Given the description of an element on the screen output the (x, y) to click on. 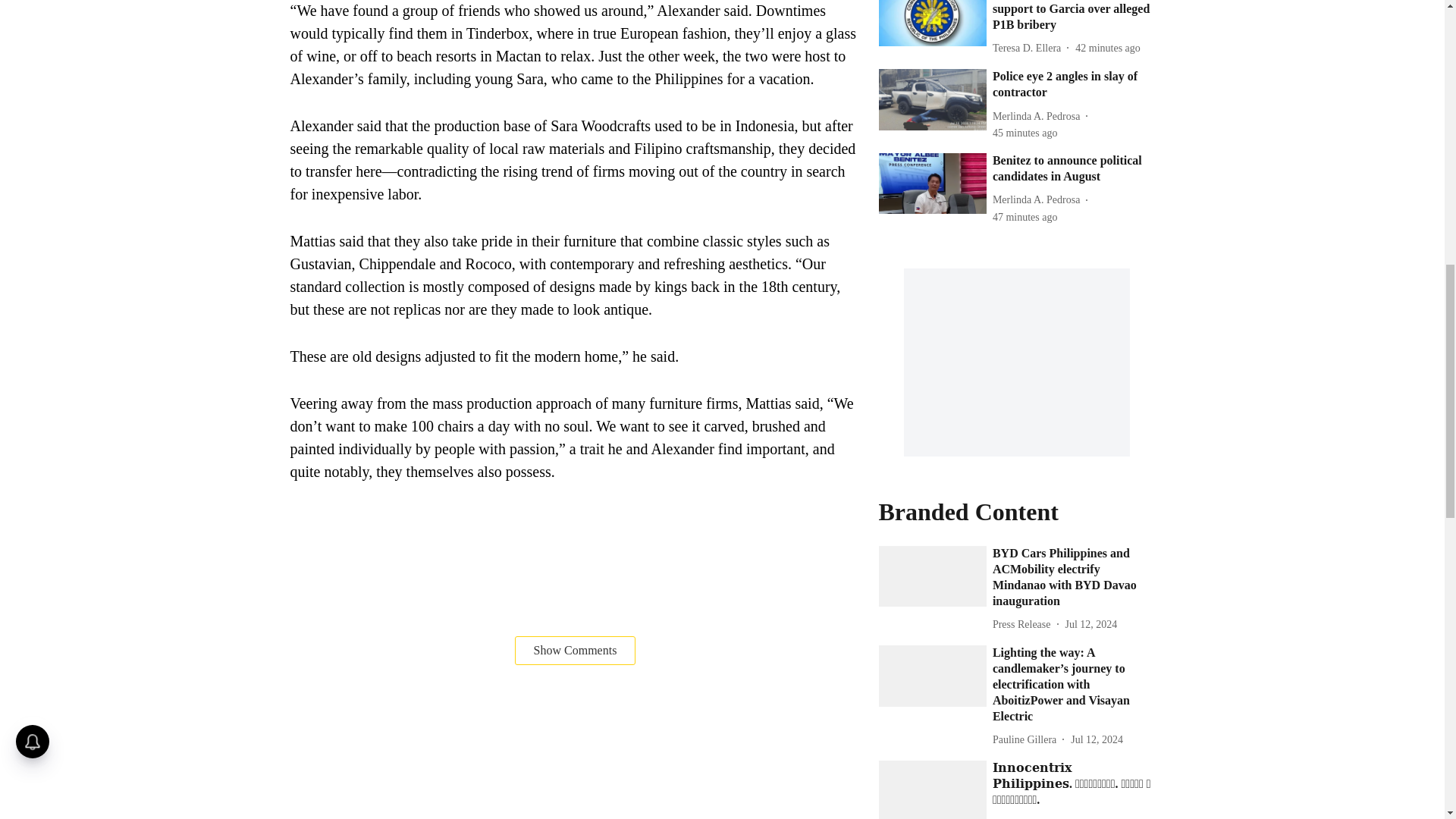
2024-07-12 07:00 (1096, 739)
2024-07-18 00:57 (1107, 48)
Show Comments (575, 650)
2024-07-12 02:00 (1090, 816)
2024-07-12 10:22 (1090, 624)
2024-07-18 00:54 (1025, 132)
2024-07-18 00:52 (1025, 217)
